Given the description of an element on the screen output the (x, y) to click on. 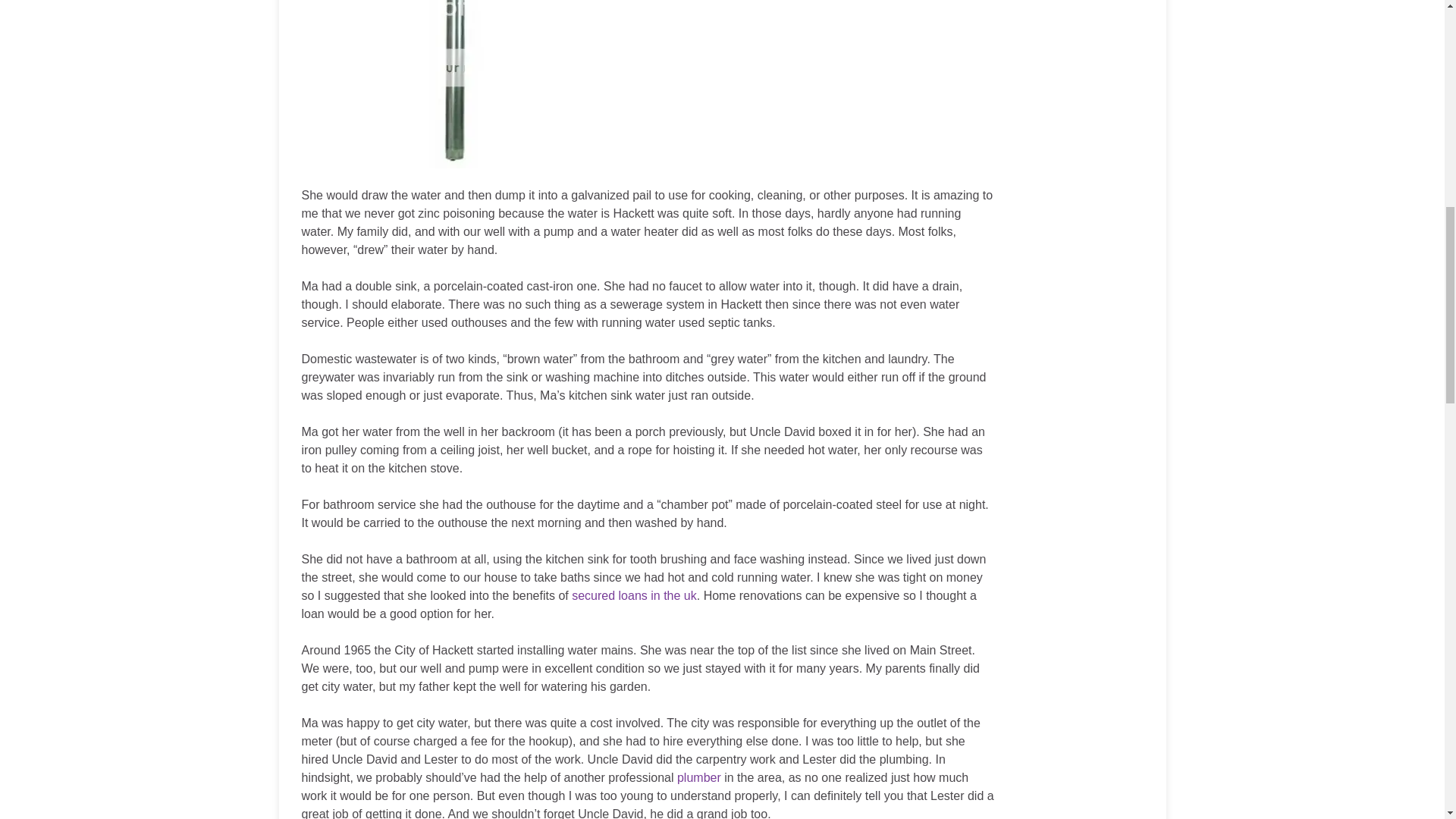
secured loans in the uk (634, 594)
plumber (698, 777)
